Given the description of an element on the screen output the (x, y) to click on. 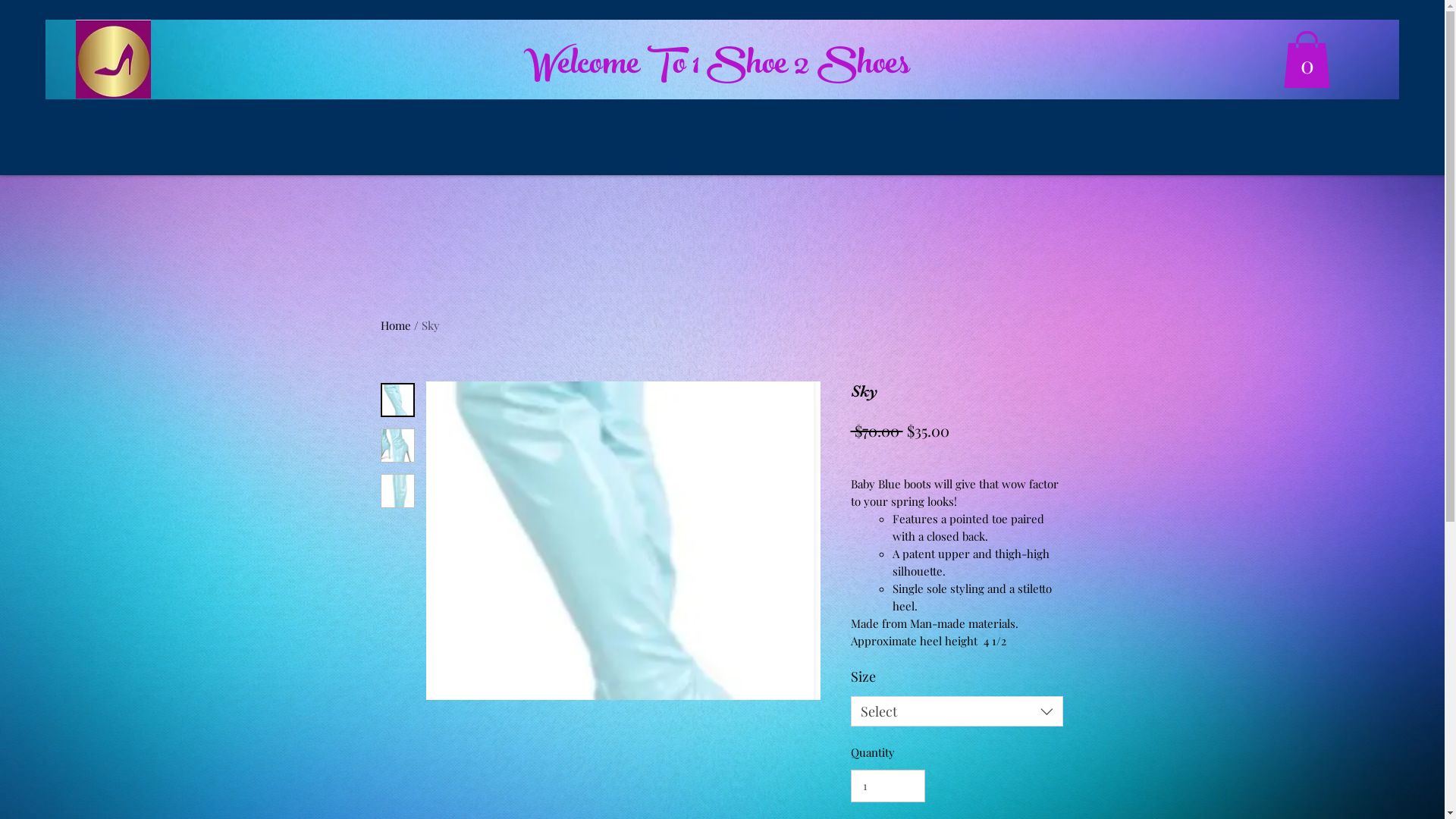
Select Element type: text (956, 711)
Sky Element type: text (430, 324)
0 Element type: text (1306, 59)
Home Element type: text (395, 324)
